Given the description of an element on the screen output the (x, y) to click on. 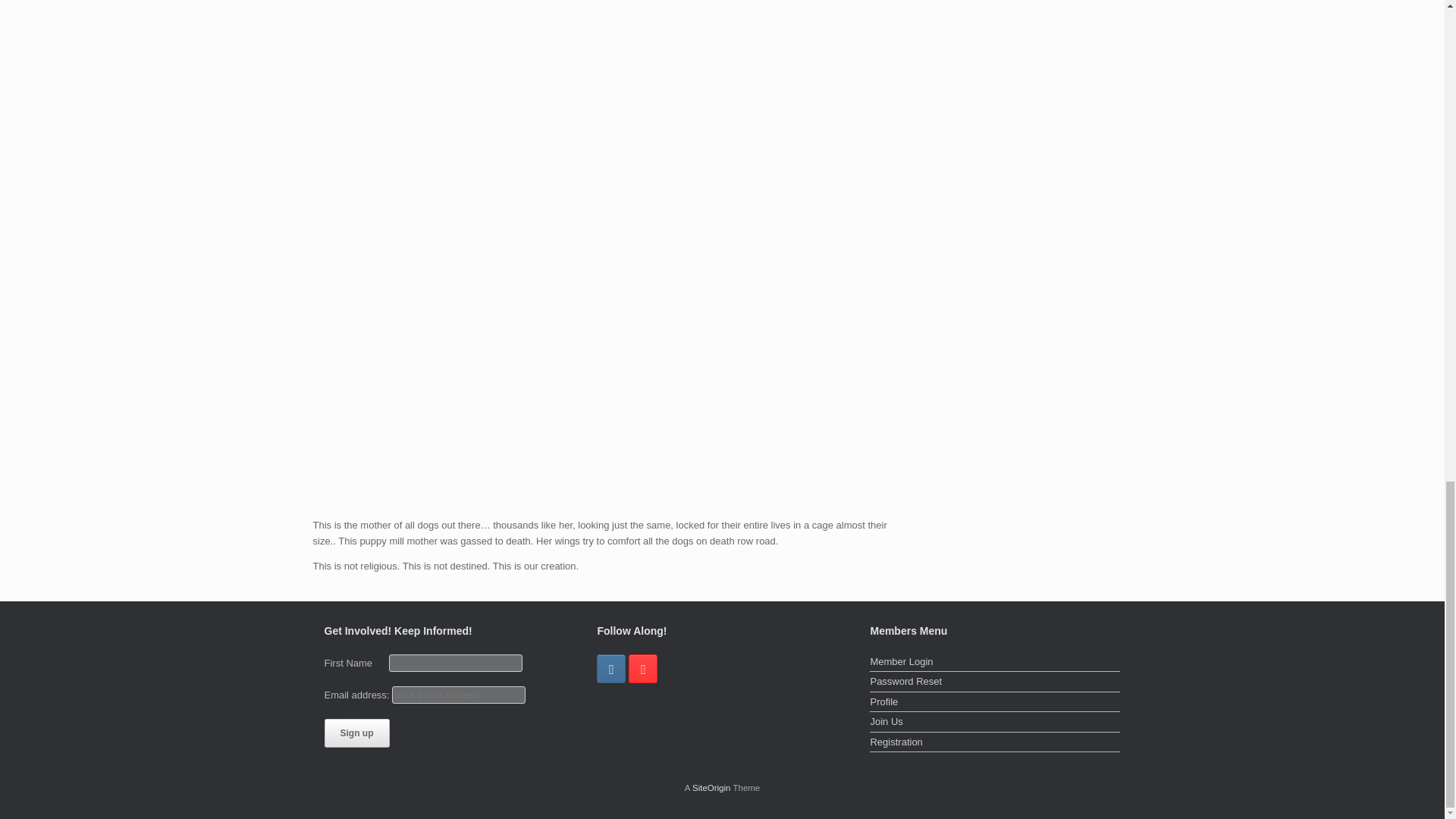
St. Rocco Foundation - Together We Can Save Them YouTube (643, 668)
Sign up (357, 733)
St. Rocco Foundation - Together We Can Save Them Instagram (611, 668)
